Given the description of an element on the screen output the (x, y) to click on. 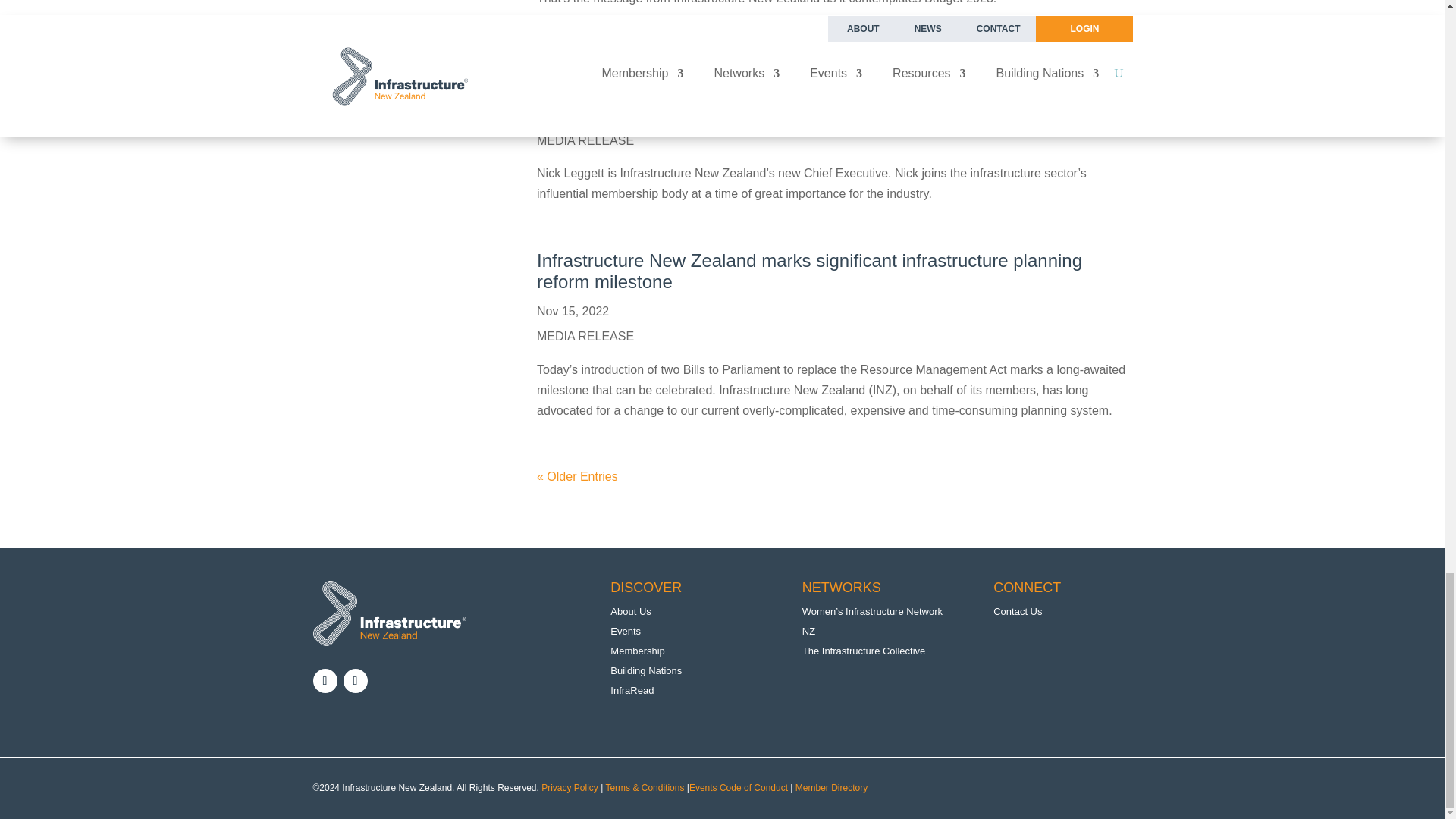
infrastructure-nz-rev-logo-r (389, 613)
Follow on LinkedIn (324, 680)
Follow on Youtube (354, 680)
